Given the description of an element on the screen output the (x, y) to click on. 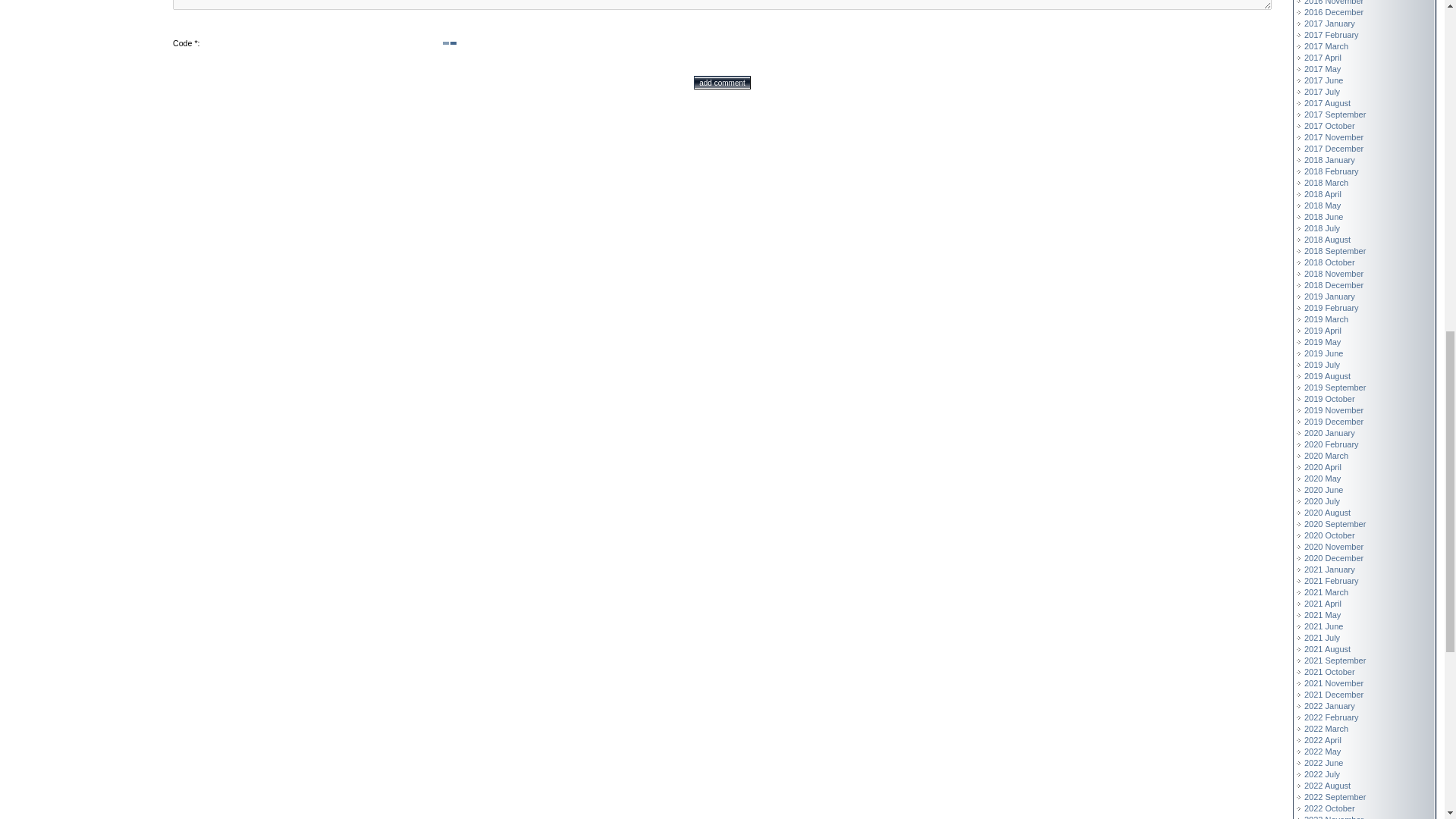
Add comment (722, 82)
Add comment (722, 82)
